Given the description of an element on the screen output the (x, y) to click on. 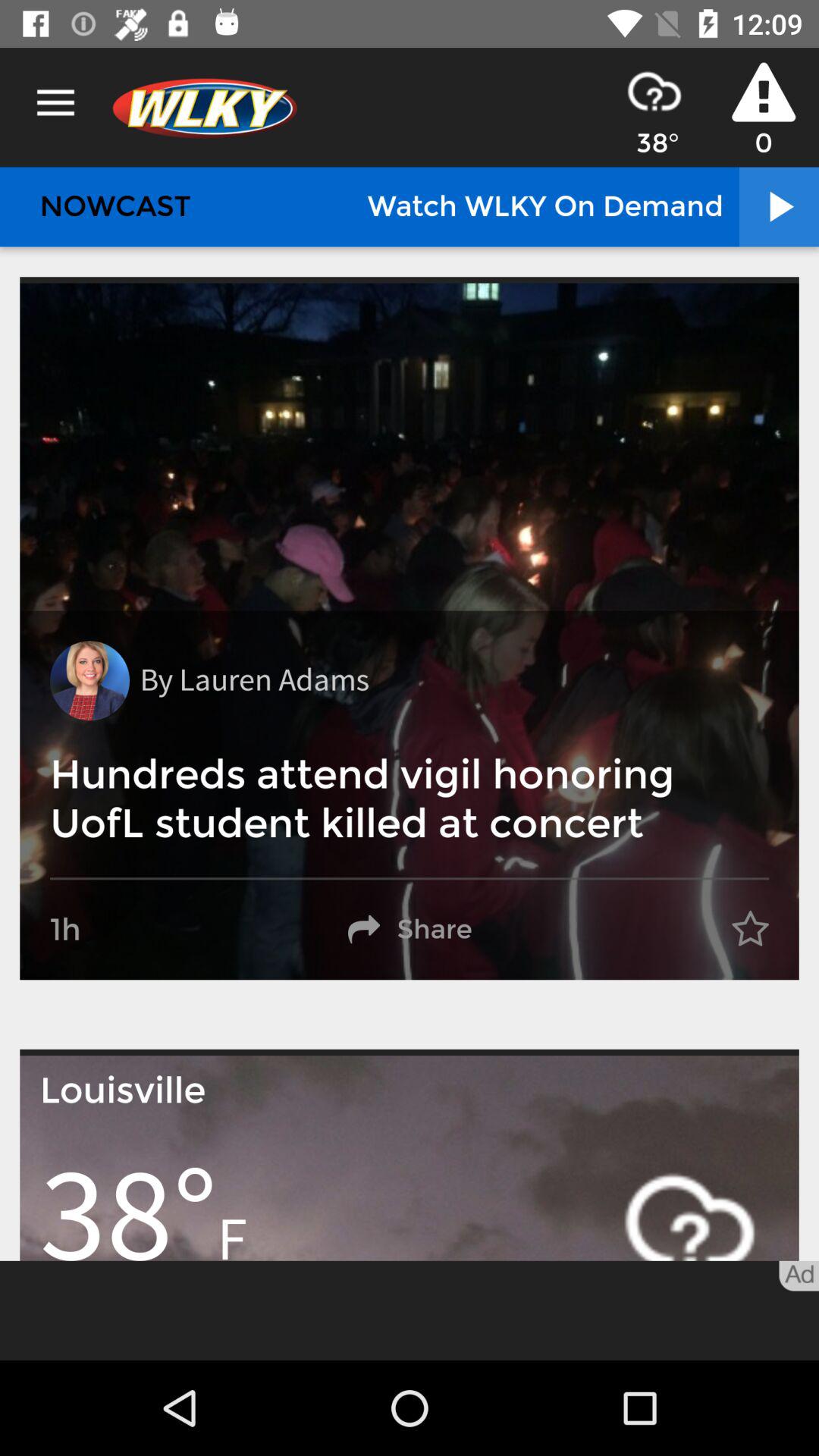
open the item to the right of share (750, 929)
